Given the description of an element on the screen output the (x, y) to click on. 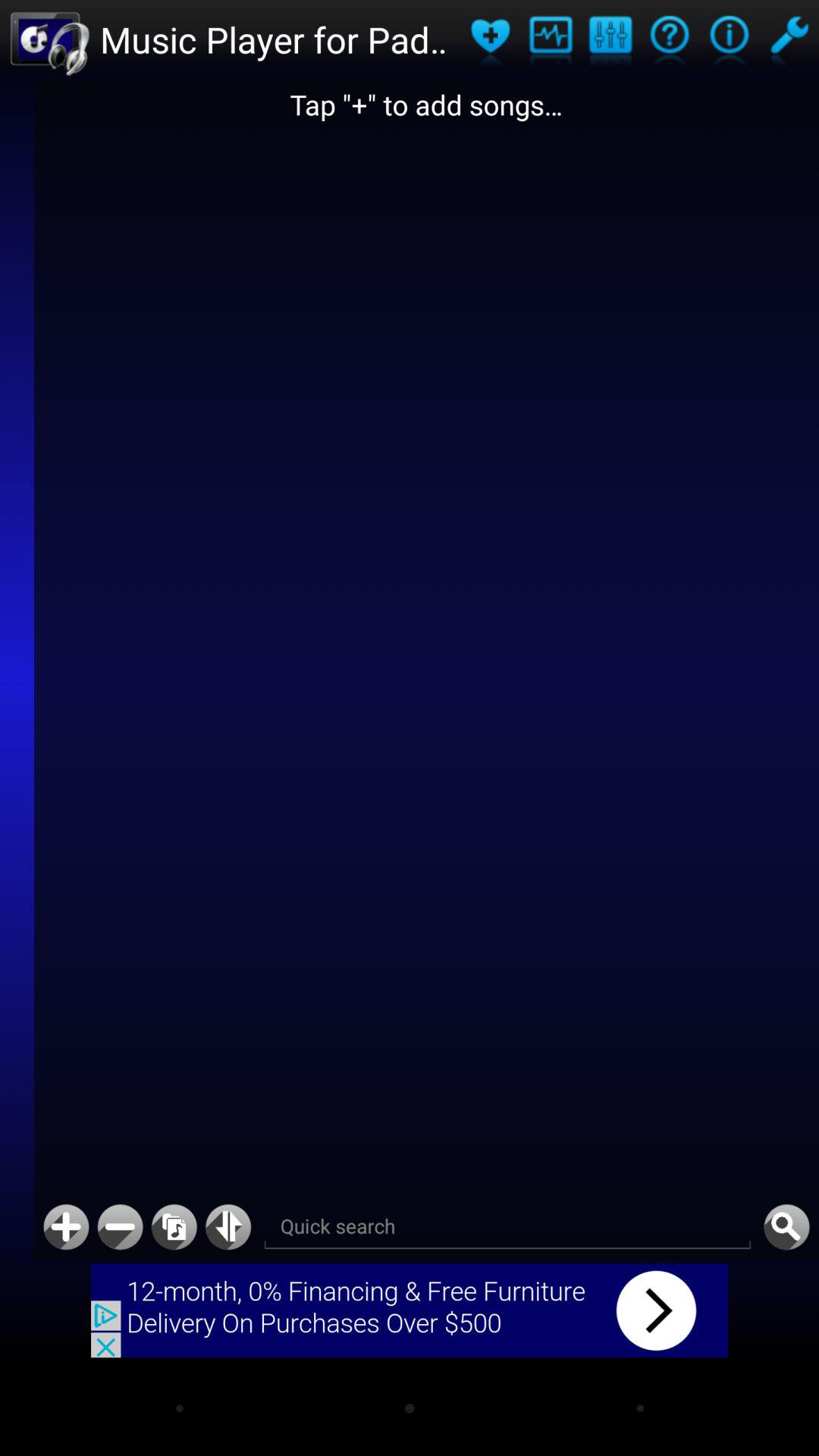
application settings (609, 39)
